Given the description of an element on the screen output the (x, y) to click on. 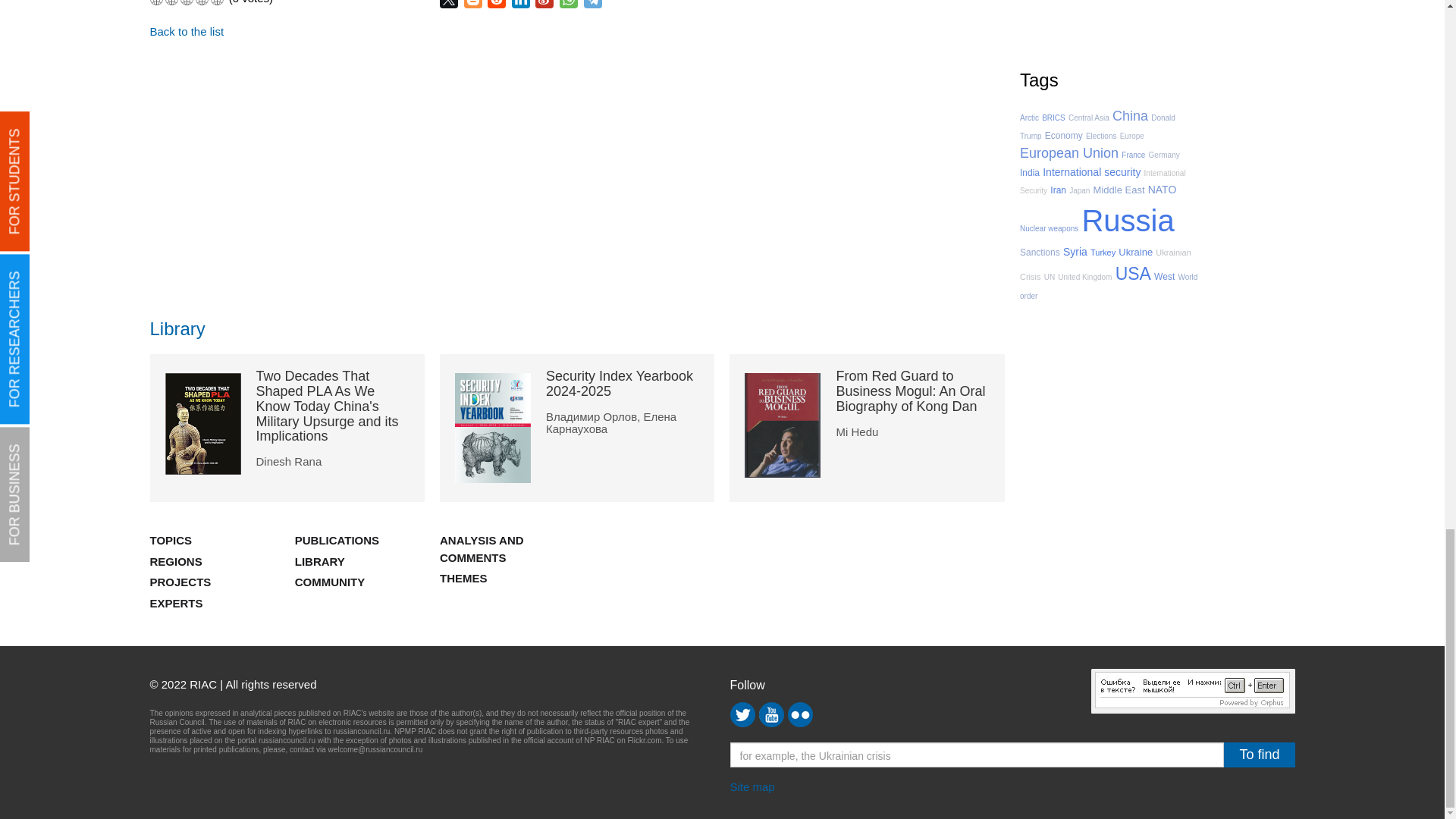
I recommend (201, 2)
reddit (497, 4)
Blogger (474, 4)
I do not recommend (156, 2)
Not interested (171, 2)
Highly recommend (217, 2)
Twitter (450, 4)
Interested (186, 2)
